Given the description of an element on the screen output the (x, y) to click on. 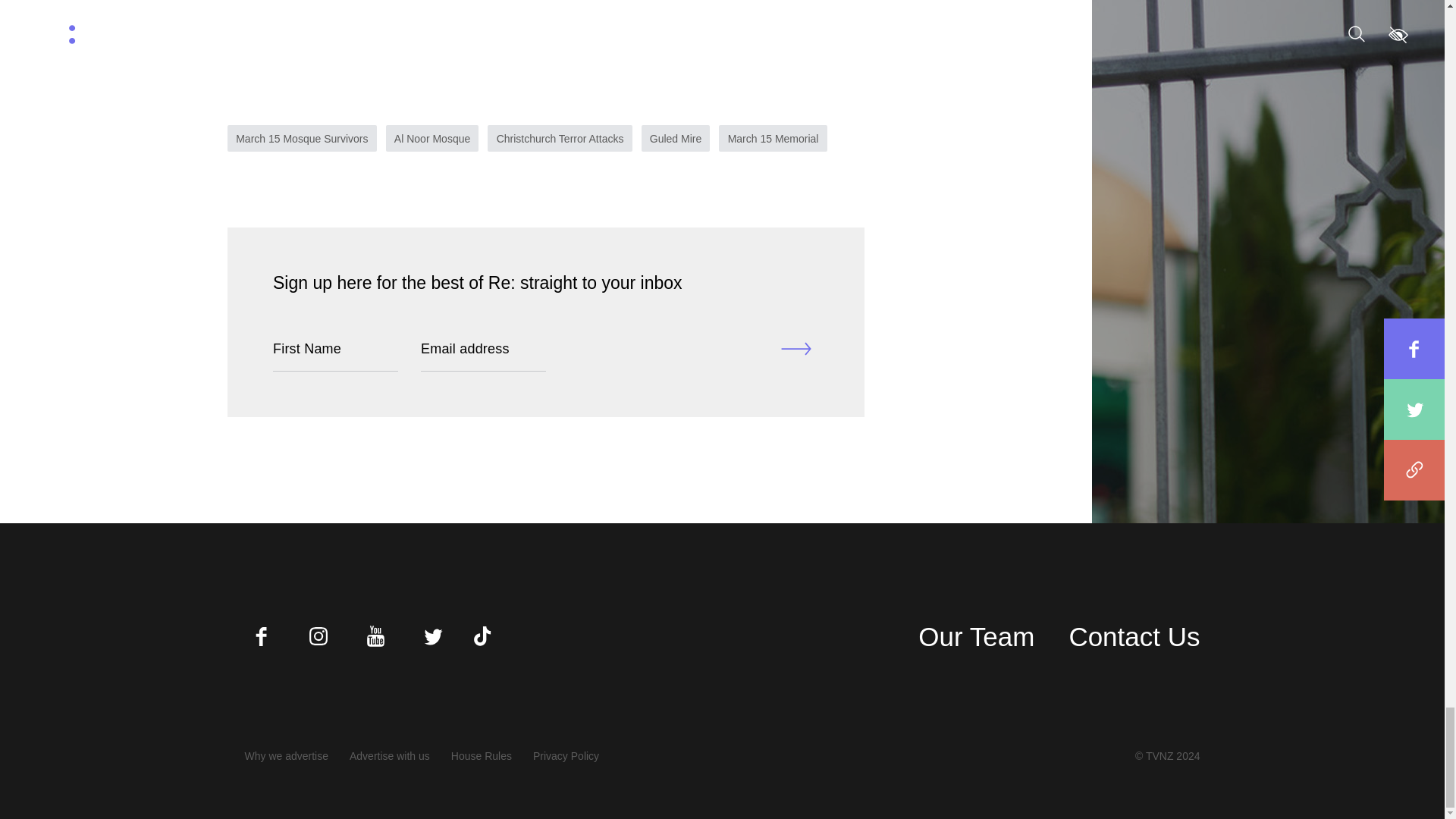
Guled Mire (676, 138)
March 15 Memorial (773, 138)
Contact Us (1133, 636)
Our Team (975, 636)
March 15 Mosque Survivors (302, 138)
March 15 Memorial (773, 138)
Twitter (431, 636)
Al Noor Mosque (432, 138)
March 15 Mosque Survivors (302, 138)
Al Noor Mosque (432, 138)
